Given the description of an element on the screen output the (x, y) to click on. 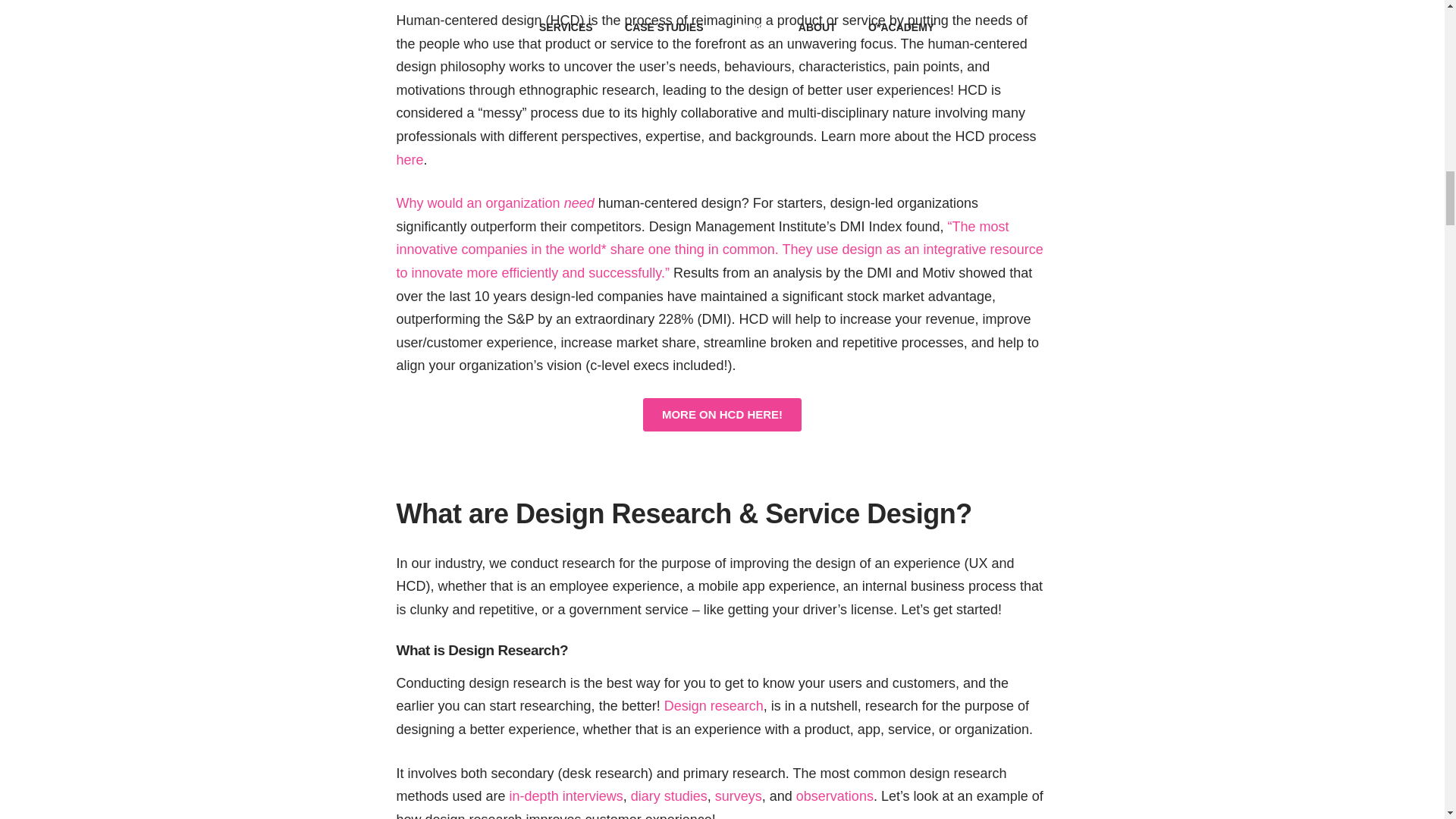
MORE ON HCD HERE! (722, 414)
Why would an organization need (495, 202)
here (409, 159)
